Given the description of an element on the screen output the (x, y) to click on. 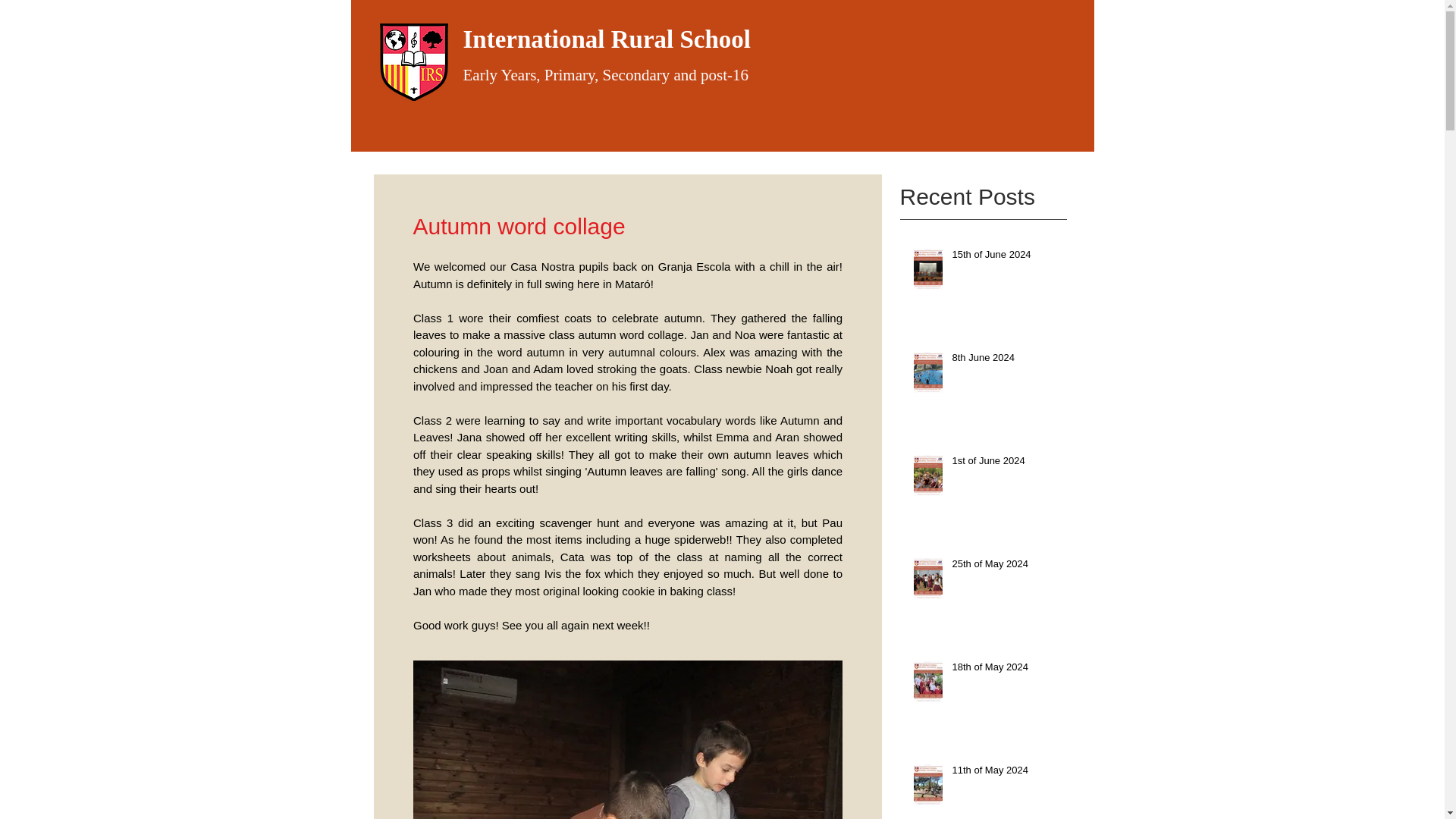
15th of June 2024 (1006, 257)
25th of May 2024 (1006, 567)
8th June 2024 (1006, 361)
11th of May 2024 (1006, 772)
18th of May 2024 (1006, 670)
1st of June 2024 (1006, 464)
